Given the description of an element on the screen output the (x, y) to click on. 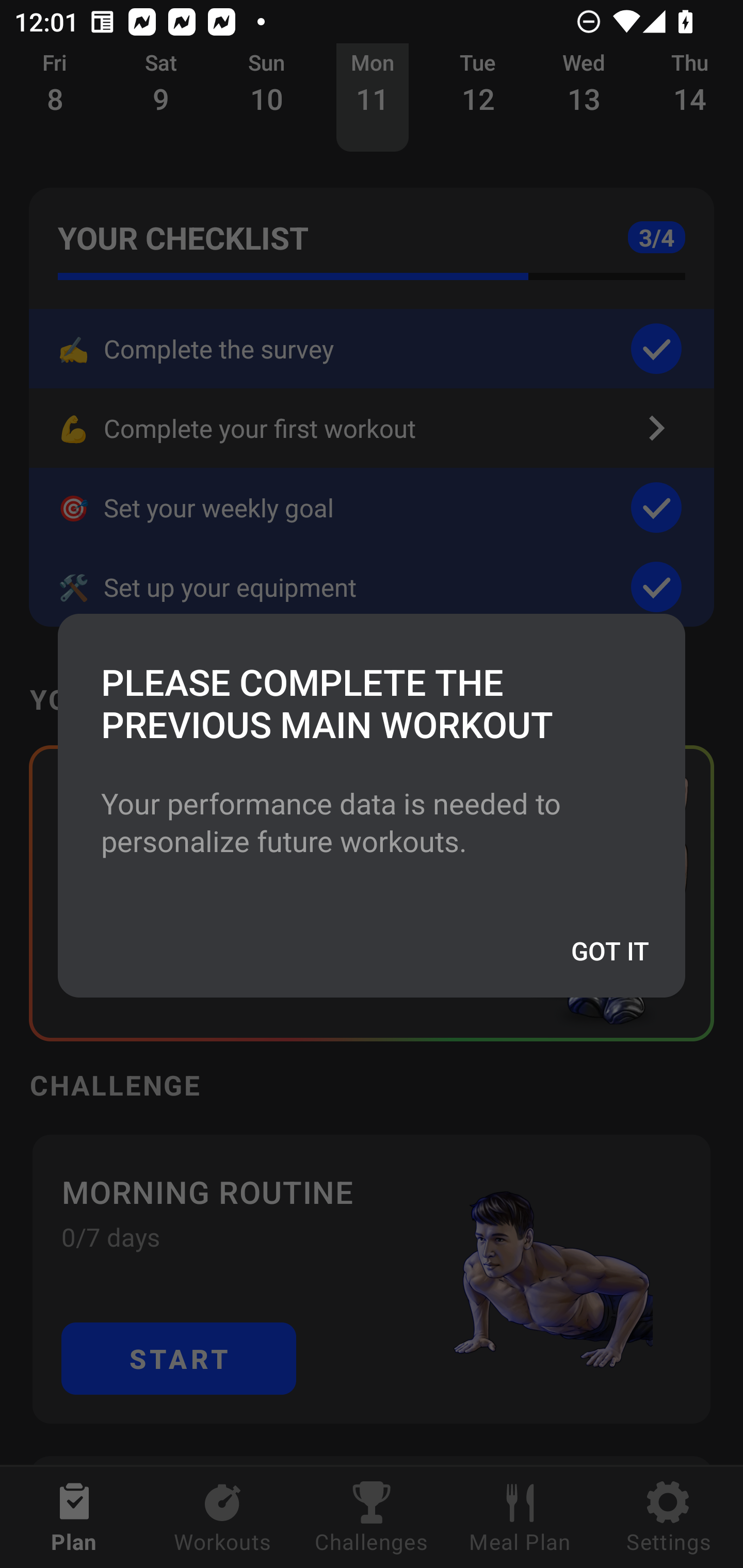
GOT IT (609, 950)
